Given the description of an element on the screen output the (x, y) to click on. 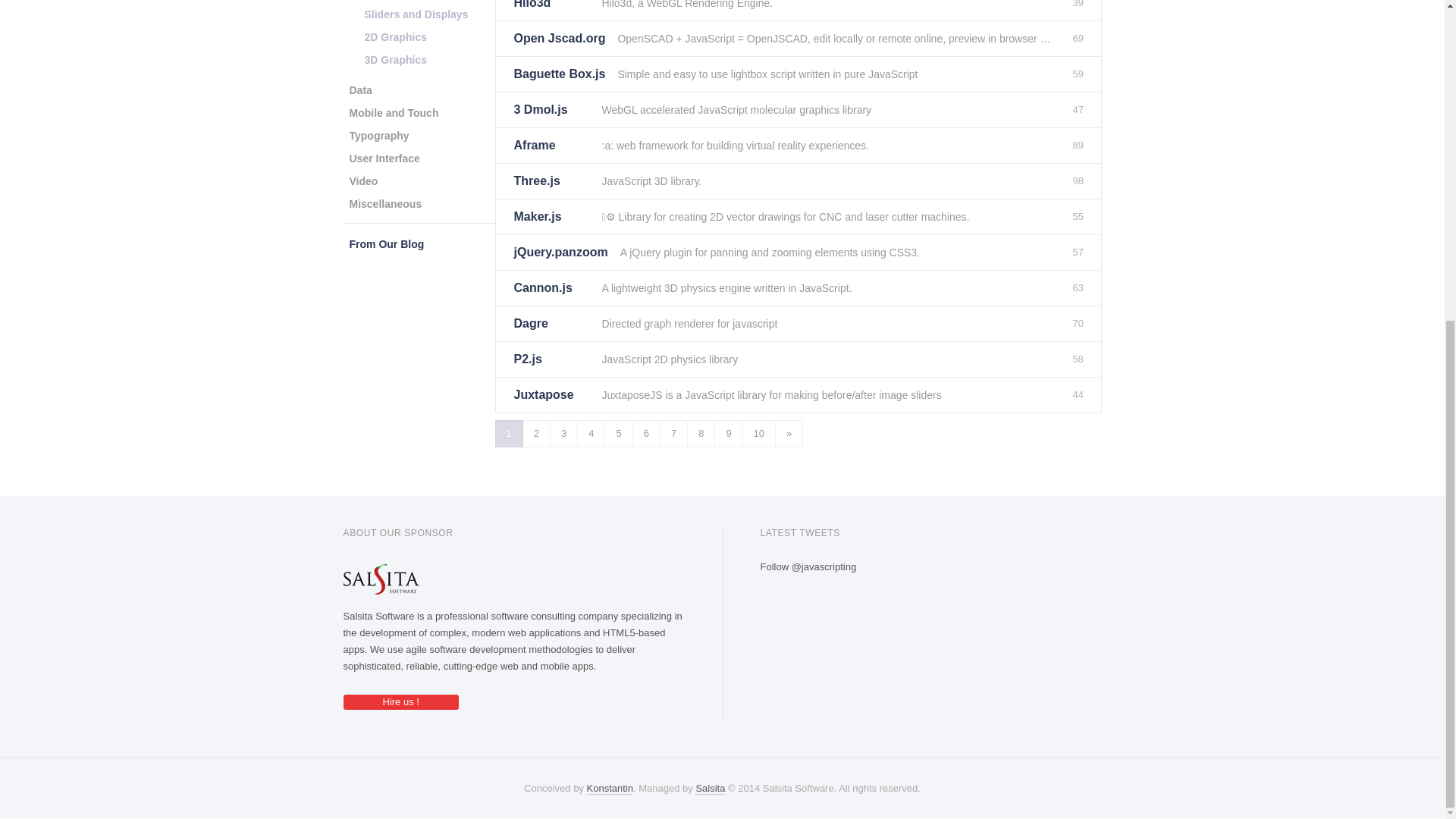
Typography (378, 135)
Mobile and Touch (393, 112)
Sliders and Displays (416, 14)
Hilo3d (551, 10)
2D Graphics (395, 36)
User Interface (383, 158)
Video (363, 180)
3D Graphics (395, 59)
Data (359, 89)
Miscellaneous (385, 203)
